Given the description of an element on the screen output the (x, y) to click on. 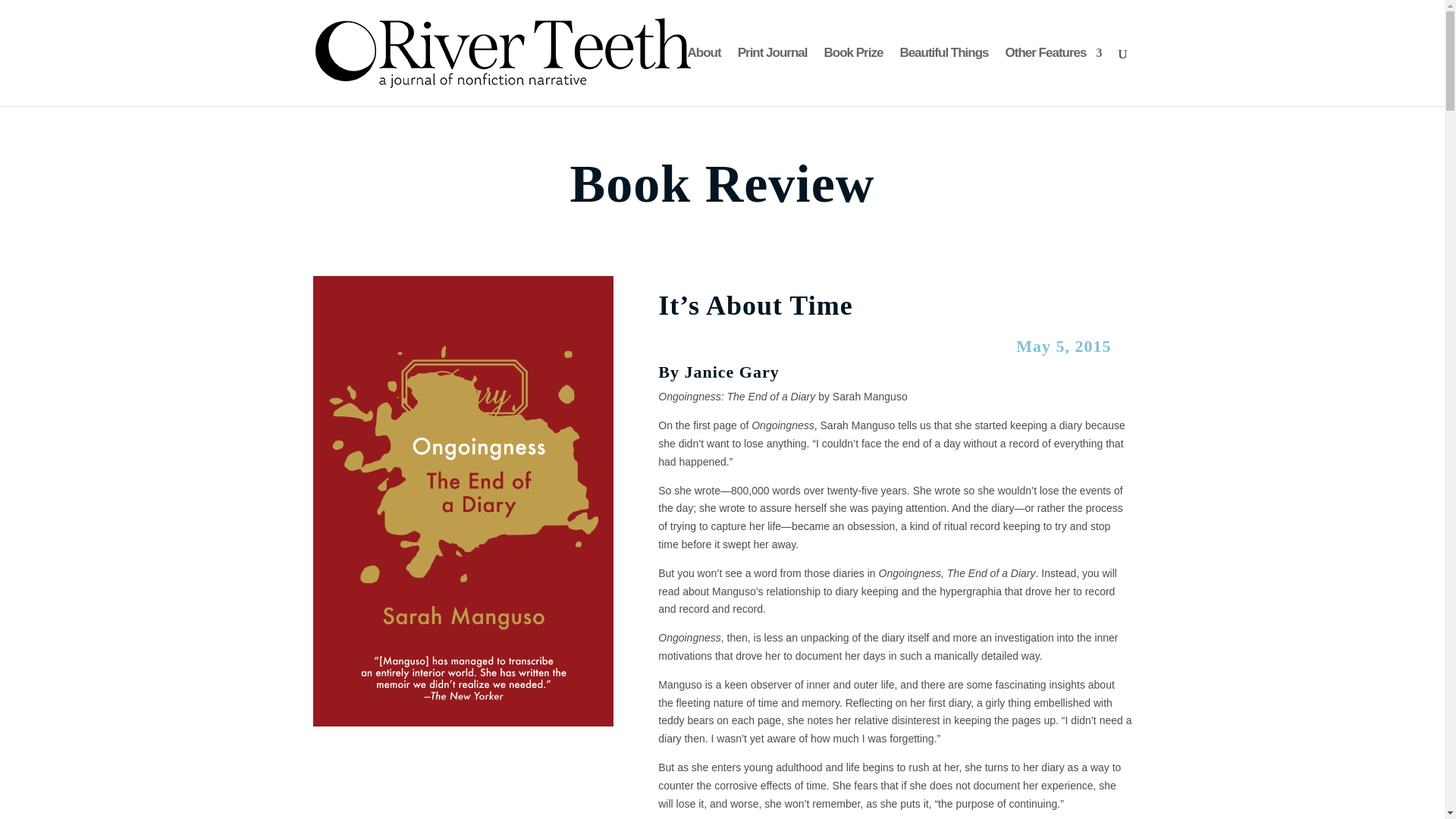
Other Features (1054, 76)
Beautiful Things (943, 76)
Book Prize (853, 76)
Print Journal (773, 76)
